Given the description of an element on the screen output the (x, y) to click on. 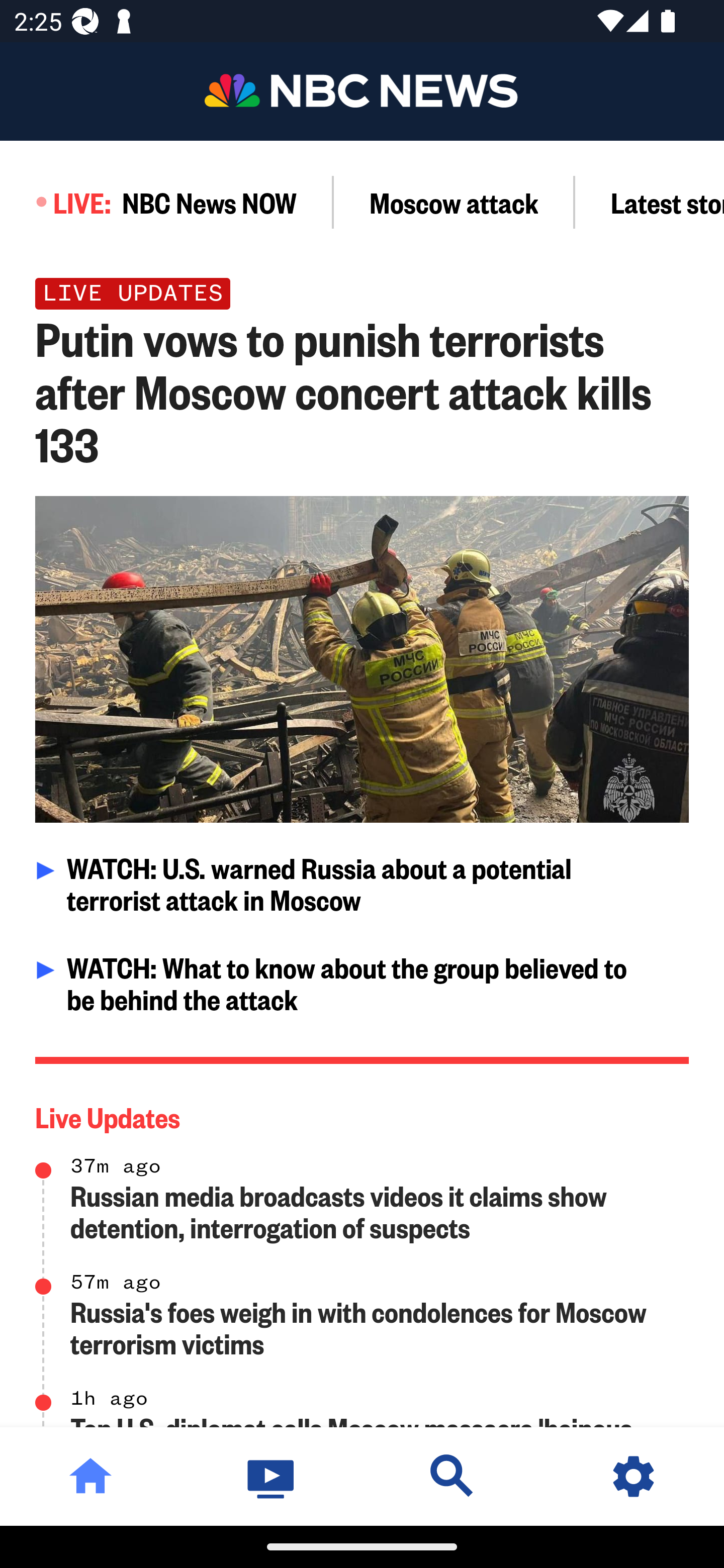
LIVE:  NBC News NOW (166, 202)
Moscow attack (453, 202)
Latest stories Section,Latest stories (649, 202)
Watch (271, 1475)
Discover (452, 1475)
Settings (633, 1475)
